Given the description of an element on the screen output the (x, y) to click on. 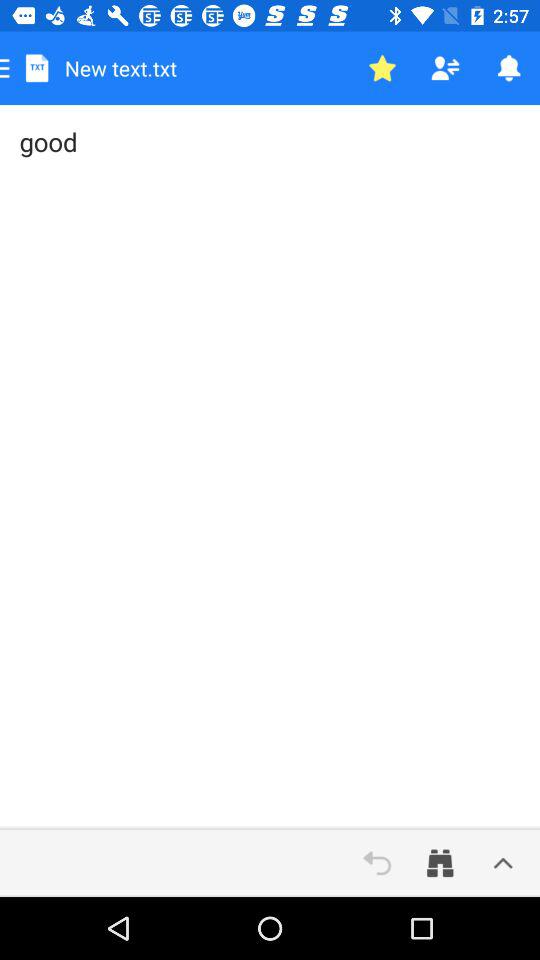
turn off item next to new text.txt (381, 68)
